Given the description of an element on the screen output the (x, y) to click on. 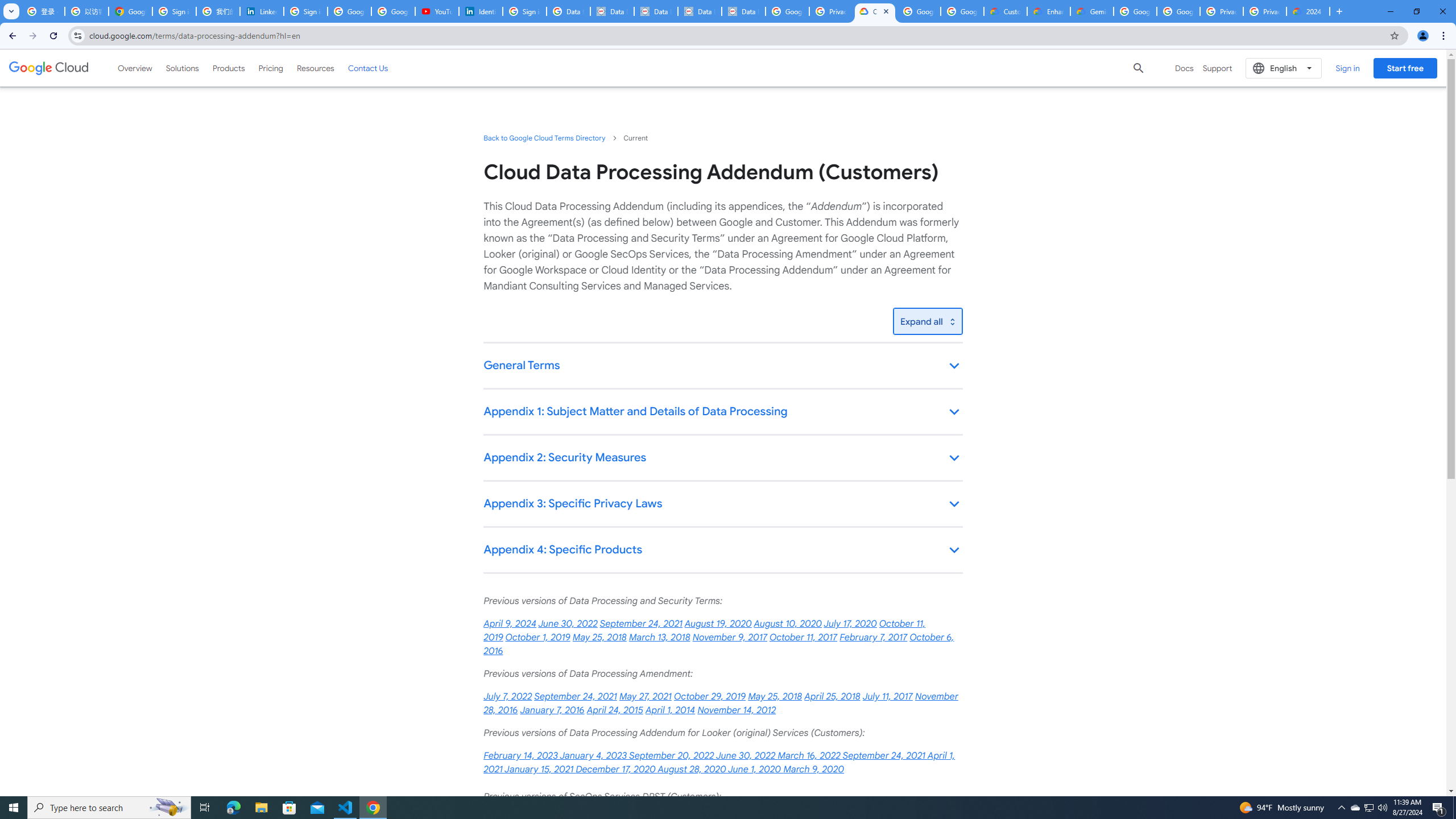
November 28, 2016 (720, 703)
November 14, 2012 (736, 709)
Sign in - Google Accounts (524, 11)
Appendix 2: Security Measures keyboard_arrow_down (722, 458)
April 25, 2018 (831, 696)
General Terms keyboard_arrow_down (722, 366)
August 19, 2020 (717, 623)
August 10, 2020 (788, 623)
